Given the description of an element on the screen output the (x, y) to click on. 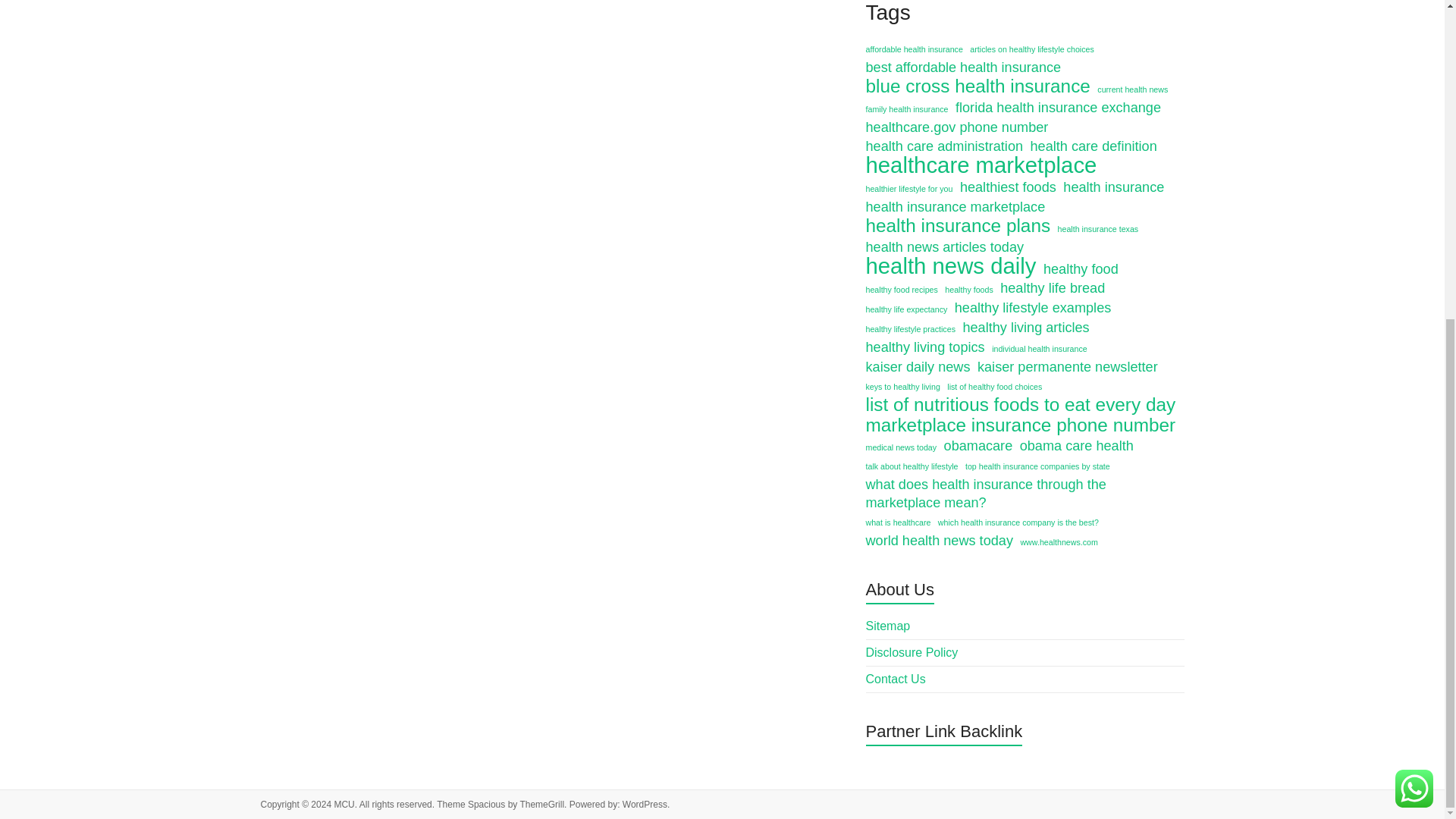
health news daily (951, 266)
current health news (1132, 89)
articles on healthy lifestyle choices (1031, 49)
healthiest foods (1008, 187)
healthy foods (968, 289)
healthy food (1080, 269)
family health insurance (907, 108)
health news articles today (945, 247)
blue cross health insurance (978, 85)
health insurance plans (958, 226)
MCU (343, 804)
Spacious (486, 804)
healthier lifestyle for you (909, 188)
healthy lifestyle examples (1033, 307)
health insurance (1112, 187)
